Given the description of an element on the screen output the (x, y) to click on. 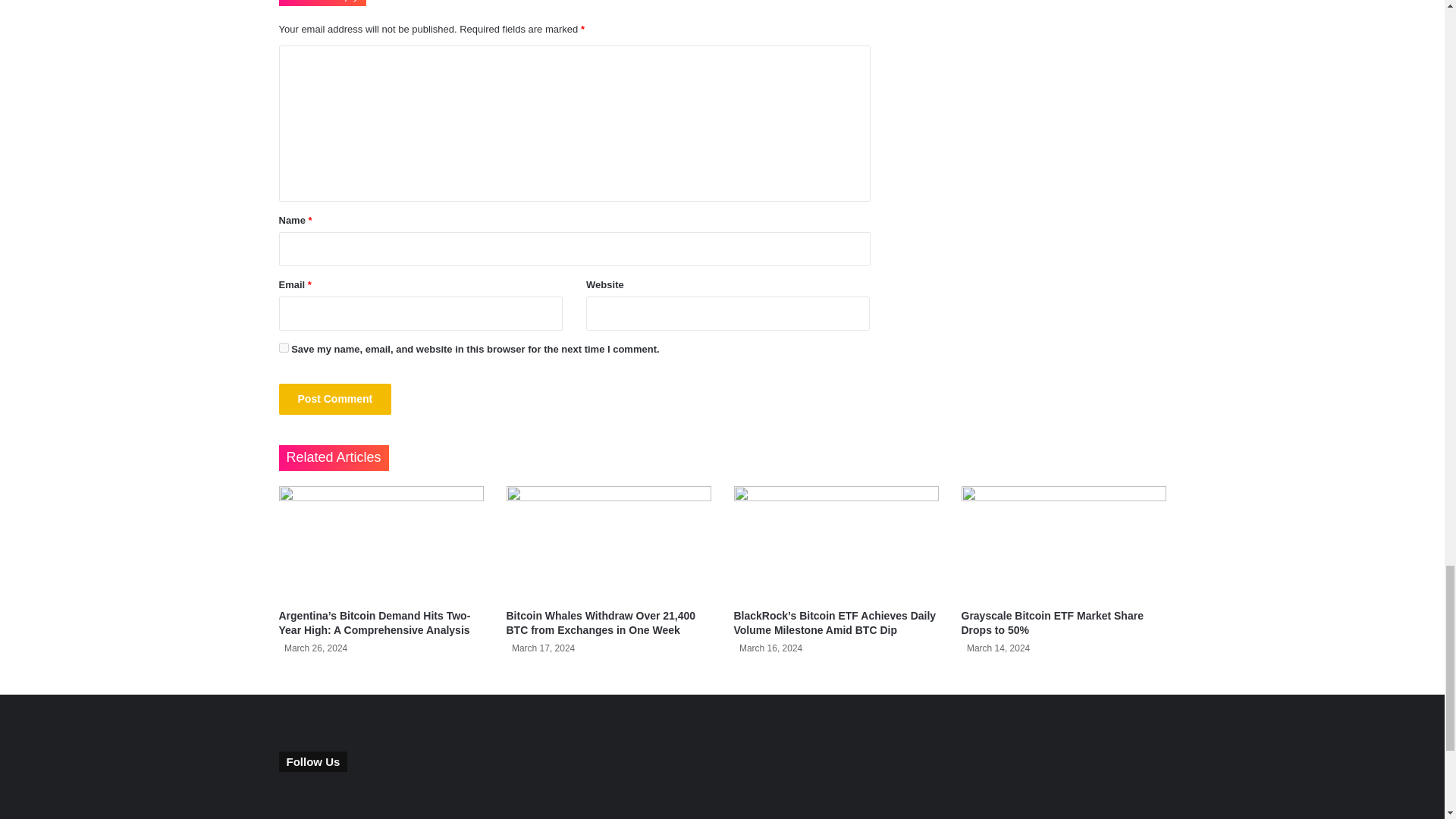
Post Comment (335, 399)
yes (283, 347)
